Given the description of an element on the screen output the (x, y) to click on. 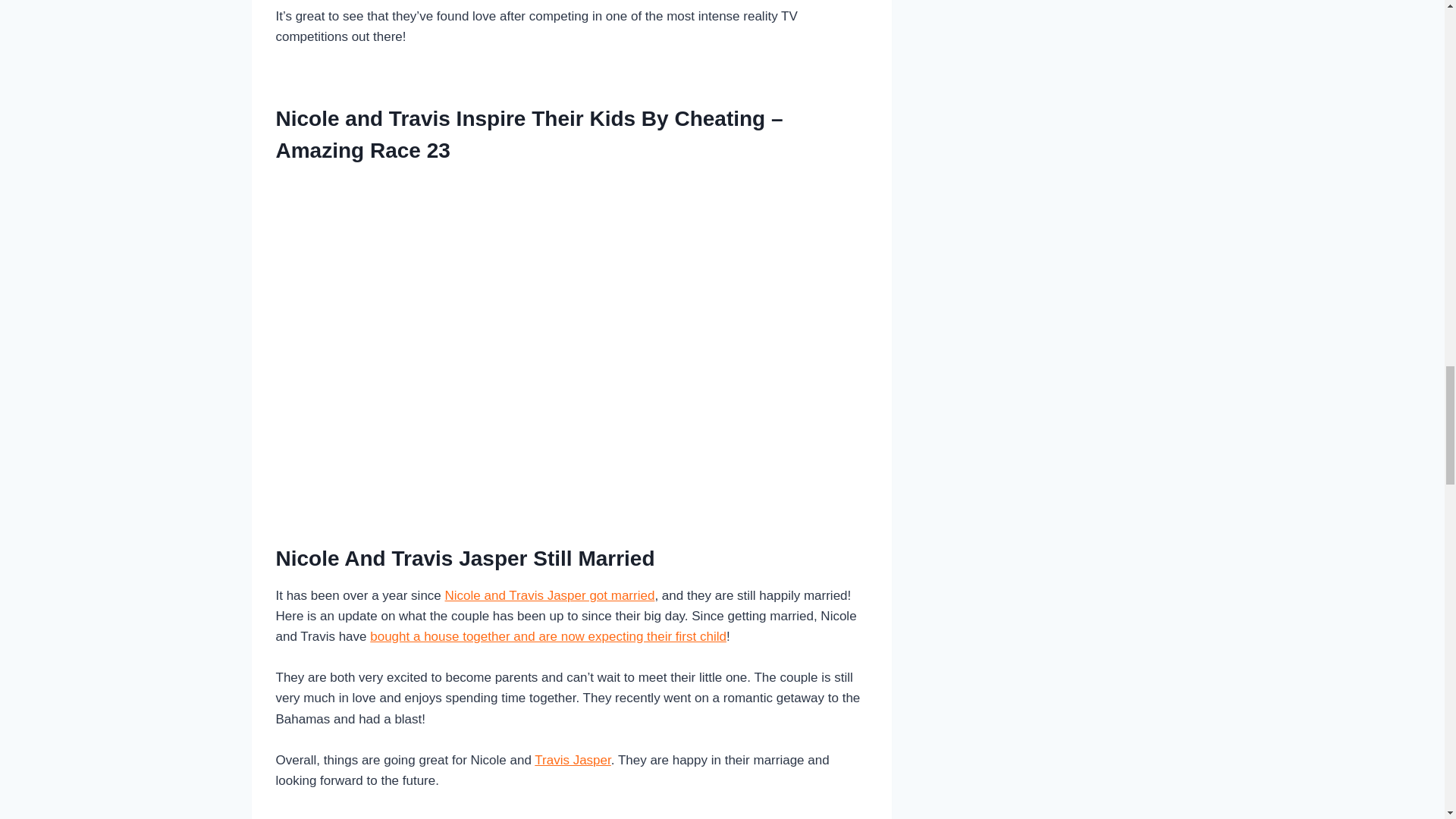
Travis Jasper (572, 759)
Nicole and Travis Jasper got married (550, 595)
